Given the description of an element on the screen output the (x, y) to click on. 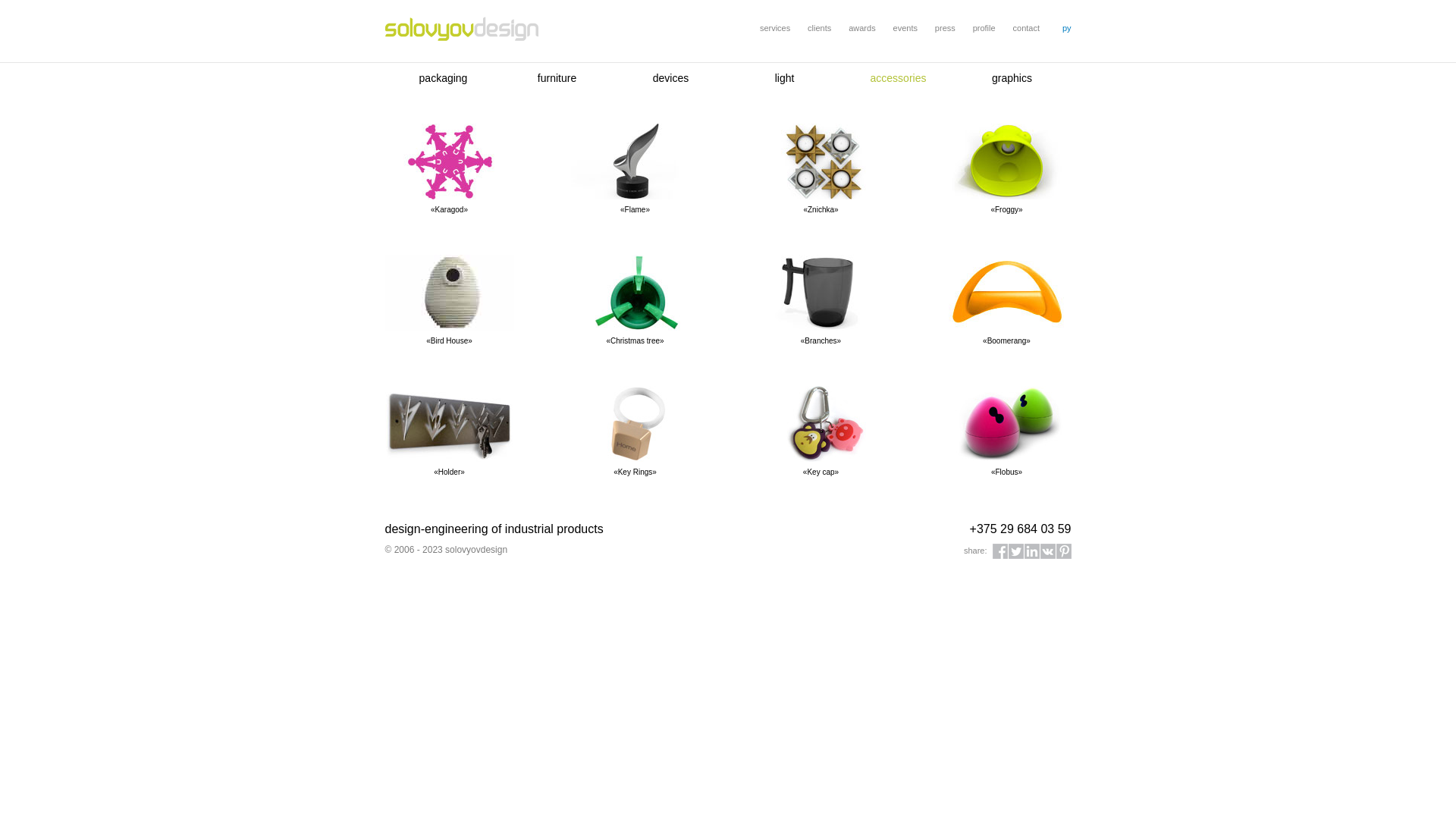
clients Element type: text (819, 27)
fb Element type: text (999, 550)
pinterest Element type: text (1062, 550)
contact Element type: text (1026, 27)
packaging Element type: text (443, 78)
services Element type: text (774, 27)
SOLOVYOVDESIGN Element type: text (461, 29)
+375 29 684 03 59 Element type: text (1020, 528)
press Element type: text (945, 27)
furniture Element type: text (556, 78)
vk Element type: text (1047, 550)
twitter Element type: text (1015, 550)
awards Element type: text (861, 27)
py Element type: text (1066, 27)
light Element type: text (784, 78)
graphics Element type: text (1011, 78)
linkedin Element type: text (1030, 550)
events Element type: text (905, 27)
profile Element type: text (983, 27)
accessories Element type: text (898, 78)
devices Element type: text (670, 78)
